Given the description of an element on the screen output the (x, y) to click on. 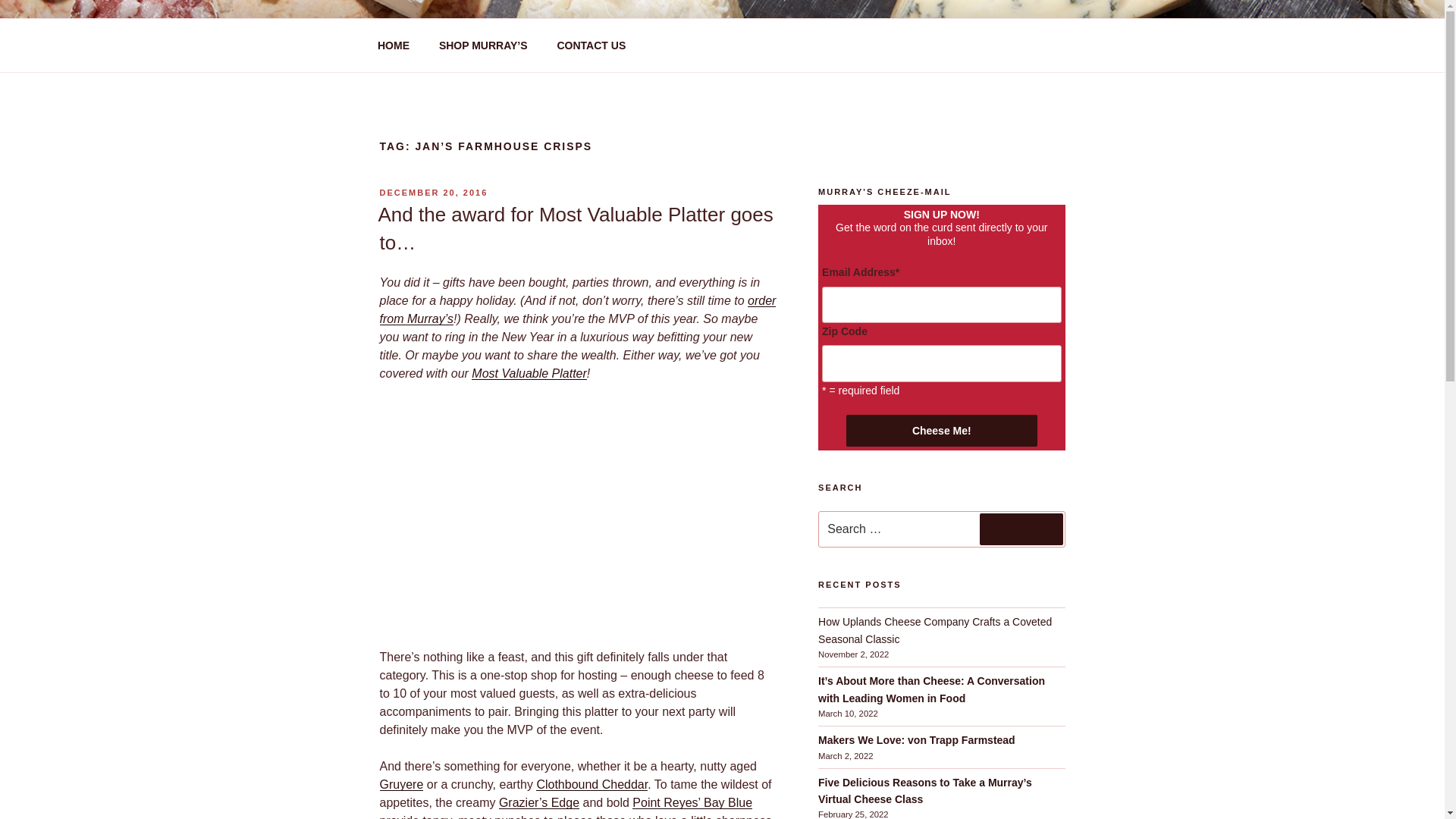
MURRAY'S CHEESE BLOG (574, 52)
Search (1020, 529)
HOME (393, 45)
Makers We Love: von Trapp Farmstead  (917, 739)
Most Valuable Platter (528, 373)
Cheese Me! (940, 430)
Gruyere (400, 784)
Cheese Me! (940, 430)
CONTACT US (591, 45)
DECEMBER 20, 2016 (432, 192)
Clothbound Cheddar (591, 784)
